Given the description of an element on the screen output the (x, y) to click on. 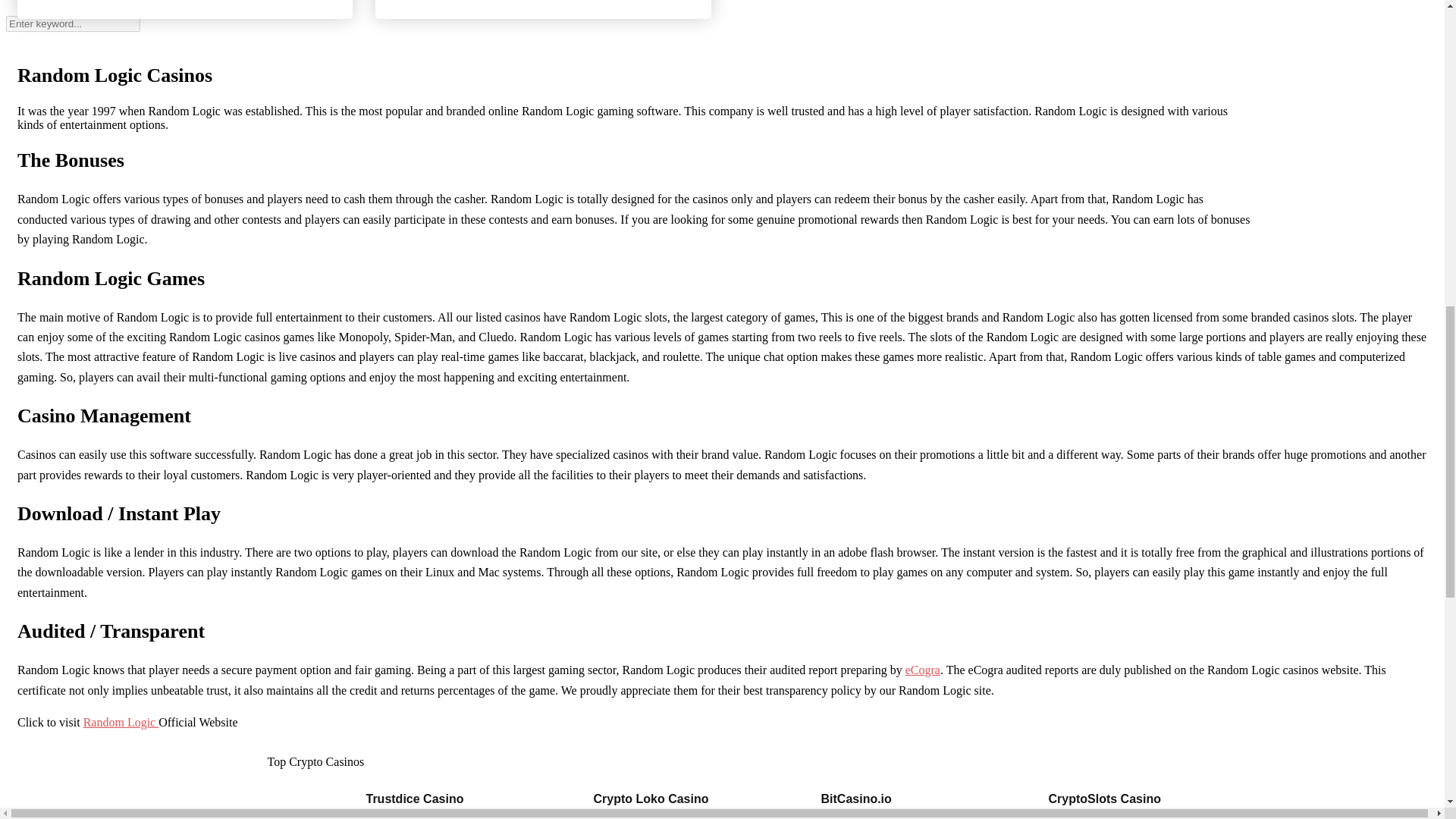
eCOGRA Casinos (922, 669)
CryptoSlots Casino (1104, 798)
BitCasino.io (856, 798)
Trustdice Casino (414, 798)
Crypto Loko Casino (649, 798)
